Given the description of an element on the screen output the (x, y) to click on. 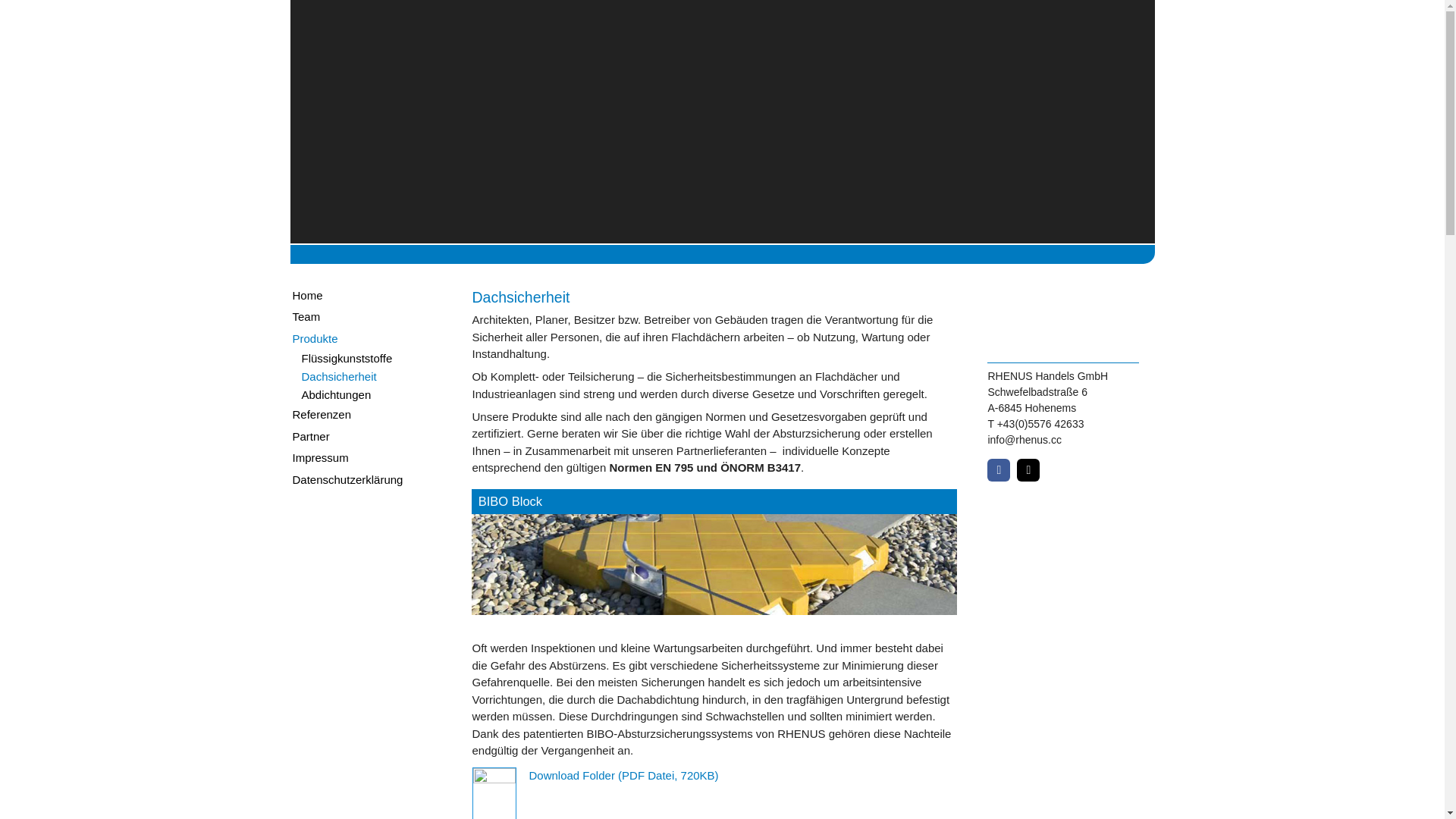
Download Folder (PDF Datei, 720KB) Element type: text (623, 774)
info@rhenus.cc Element type: text (1023, 439)
Dachsicherheit Element type: text (365, 376)
T +43(0)5576 42633 Element type: text (1035, 423)
Impressum Element type: text (365, 458)
facebook Element type: text (998, 469)
Abdichtungen Element type: text (365, 394)
instagram Element type: text (1027, 469)
Team Element type: text (365, 317)
Referenzen Element type: text (365, 415)
Produkte Element type: text (365, 339)
Home Element type: text (365, 296)
Partner Element type: text (365, 437)
